Given the description of an element on the screen output the (x, y) to click on. 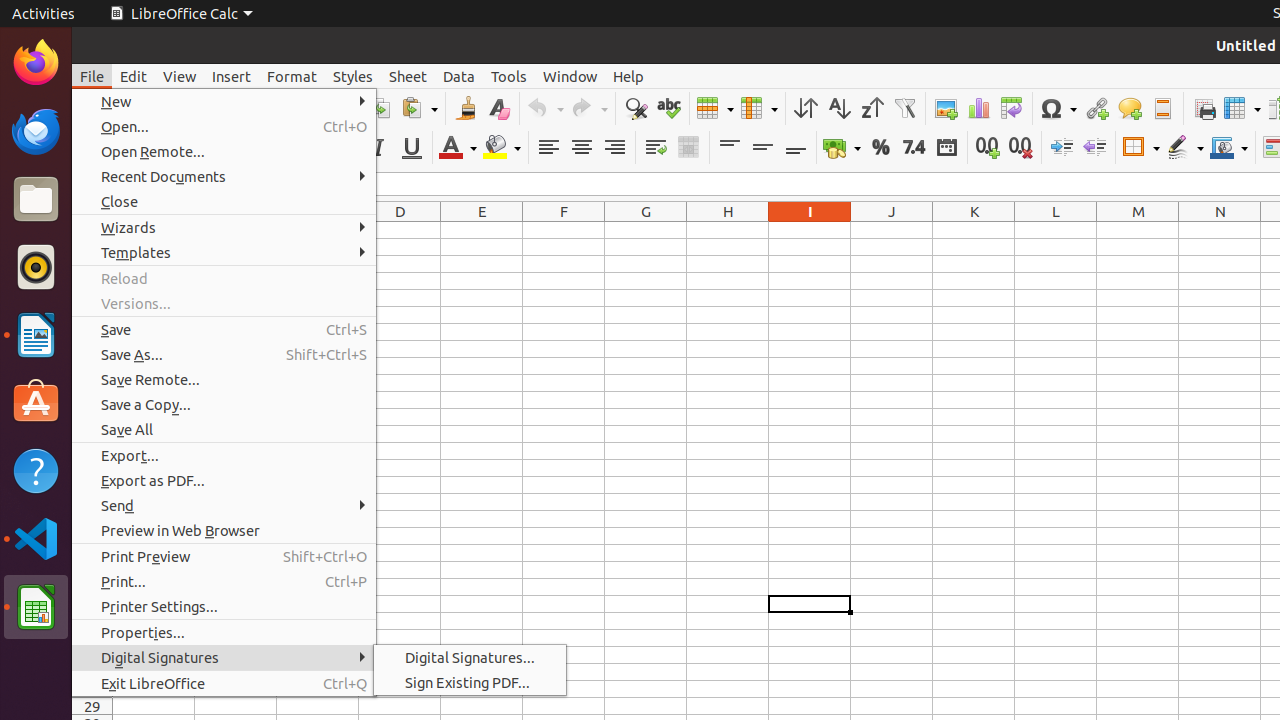
Symbol Element type: push-button (1058, 108)
I1 Element type: table-cell (810, 230)
Export as PDF... Element type: menu-item (224, 480)
Clear Element type: push-button (498, 108)
Merge and Center Cells Element type: push-button (688, 147)
